Given the description of an element on the screen output the (x, y) to click on. 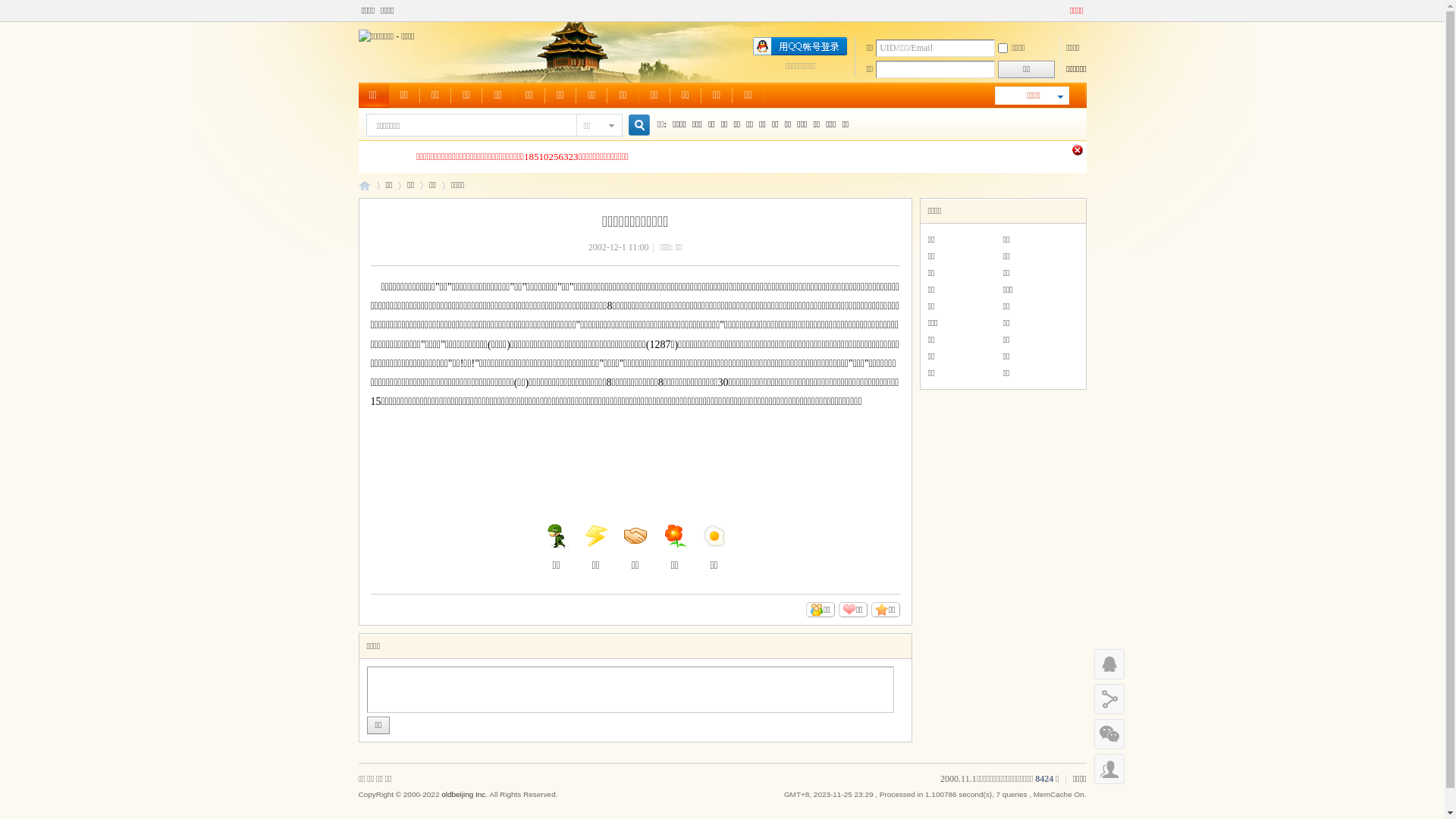
true Element type: text (632, 125)
oldbeijing Inc Element type: text (463, 794)
